Given the description of an element on the screen output the (x, y) to click on. 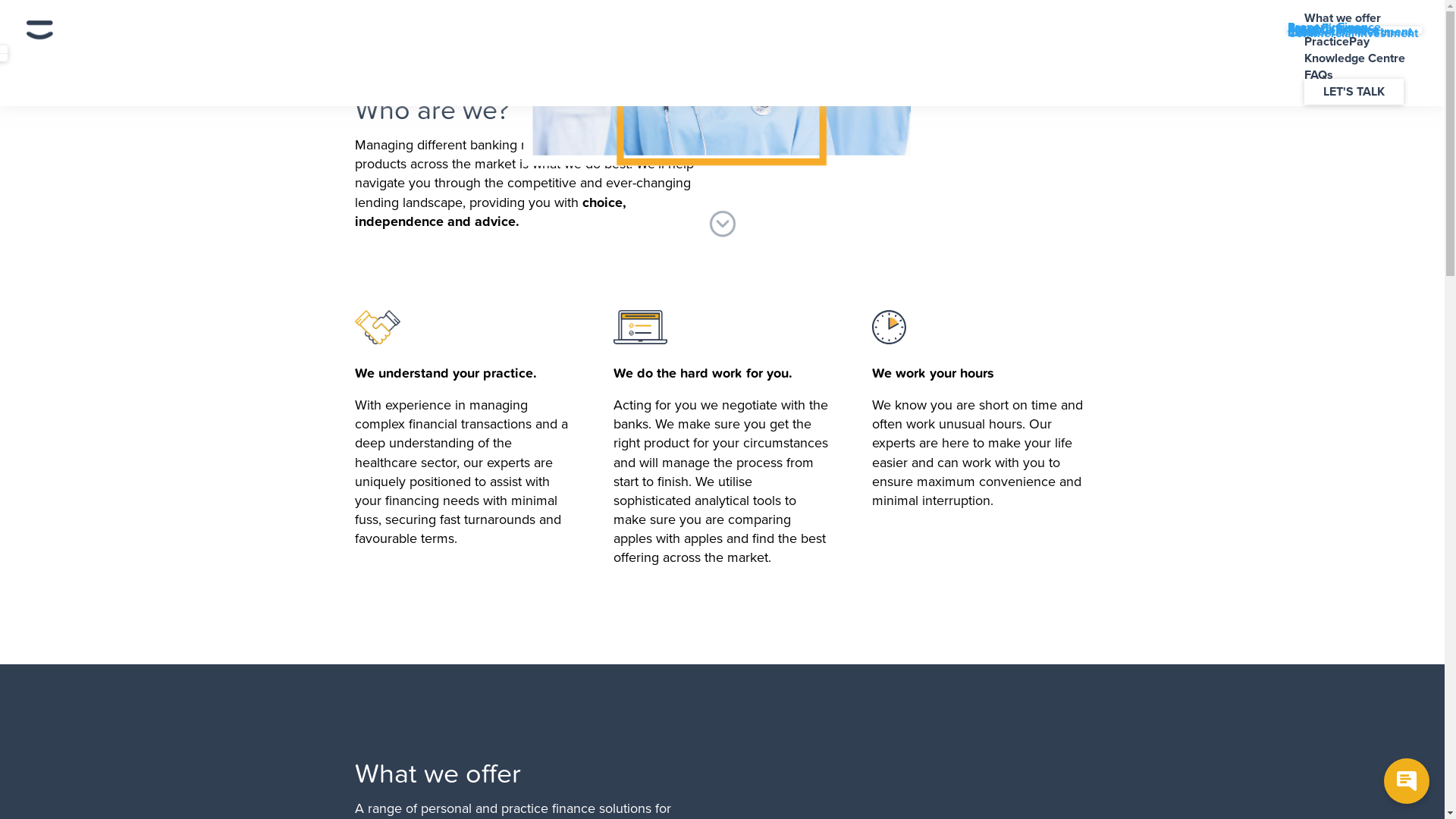
For your practice Element type: text (1333, 29)
blank Element type: text (1302, 30)
For your home Element type: text (1327, 28)
Property Finance Element type: text (1333, 26)
Commercial investment Element type: text (1352, 32)
Knowledge Centre Element type: text (1354, 57)
LET'S TALK Element type: text (1353, 91)
PracticePay Element type: text (1336, 41)
What we offer Element type: text (1342, 17)
Practice Finance Element type: text (1332, 29)
FAQs Element type: text (1318, 74)
Residential investment Element type: text (1349, 31)
blank Element type: text (1302, 32)
Asset Finance Element type: text (1326, 27)
